Given the description of an element on the screen output the (x, y) to click on. 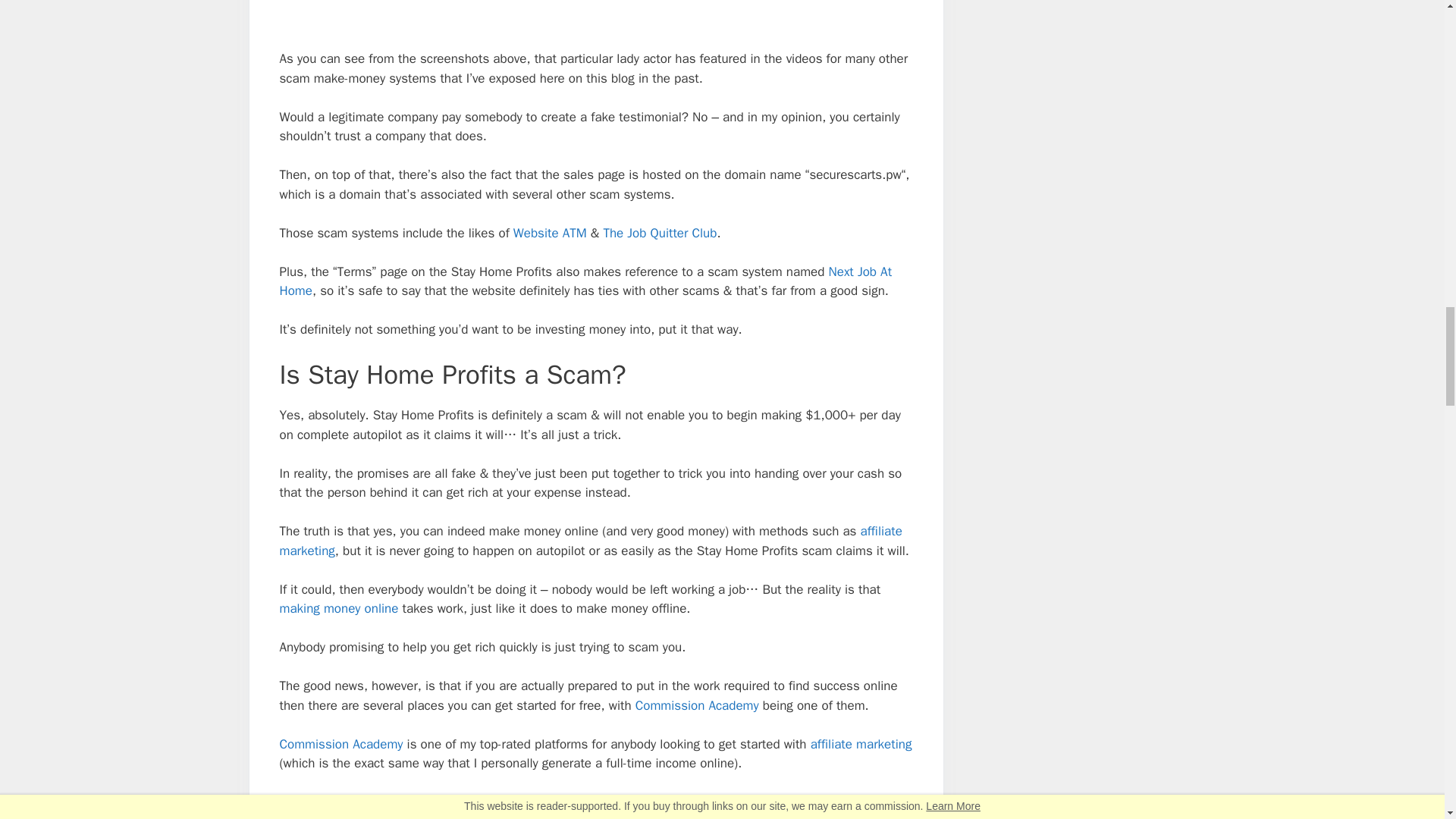
affiliate marketing (861, 744)
Website ATM (549, 232)
making money online (338, 608)
check out my own free guide to getting started right here (529, 801)
Next Job At Home (585, 281)
affiliate marketing (590, 540)
The Job Quitter Club (659, 232)
Commission Academy (696, 705)
Commission Academy (341, 744)
